Given the description of an element on the screen output the (x, y) to click on. 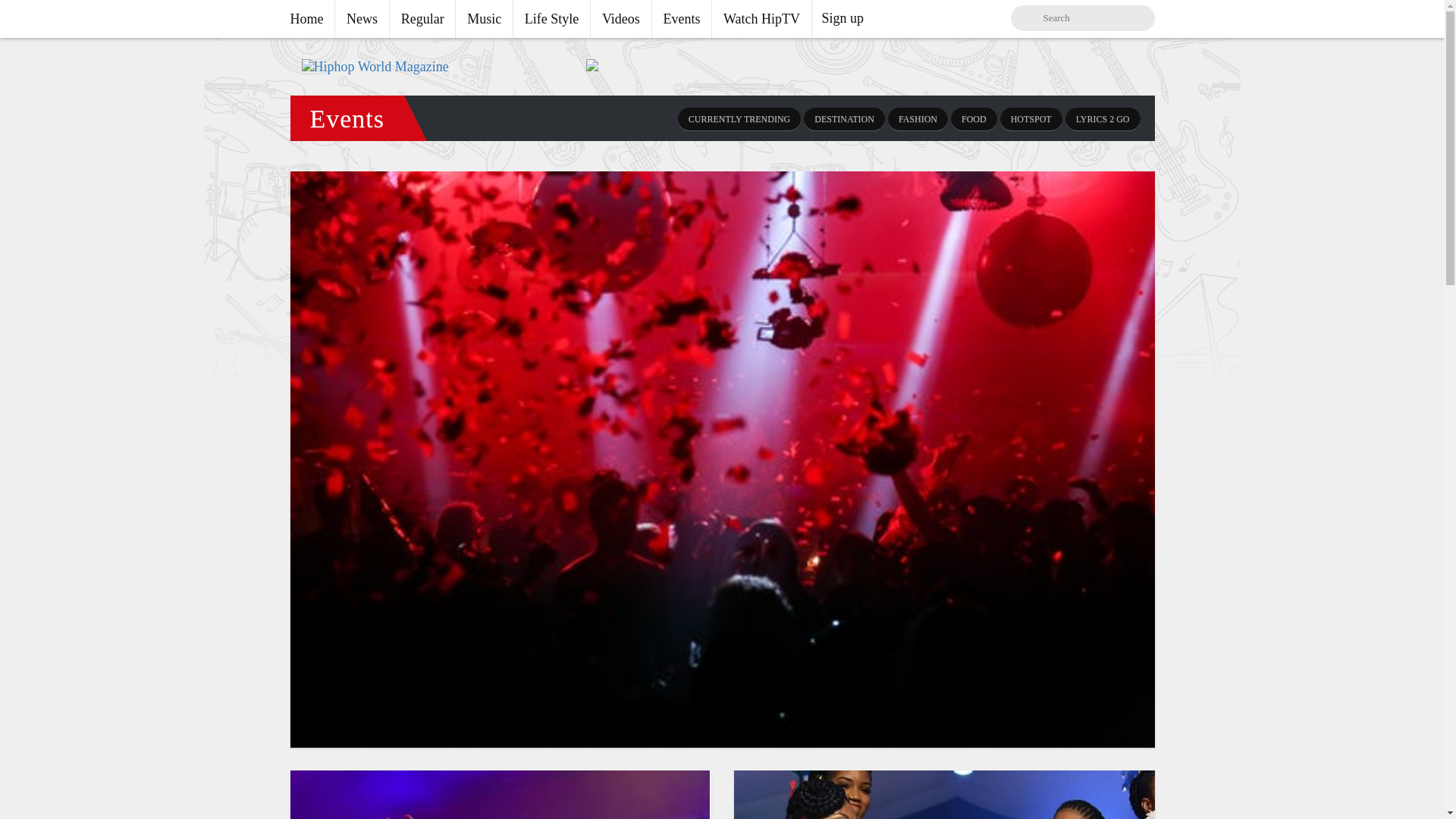
Home (311, 18)
LYRICS 2 GO (1102, 118)
Music (483, 18)
FOOD (973, 118)
submit (1038, 18)
Events (681, 18)
Videos (620, 18)
Life Style (551, 18)
News (361, 18)
DESTINATION (844, 118)
